Given the description of an element on the screen output the (x, y) to click on. 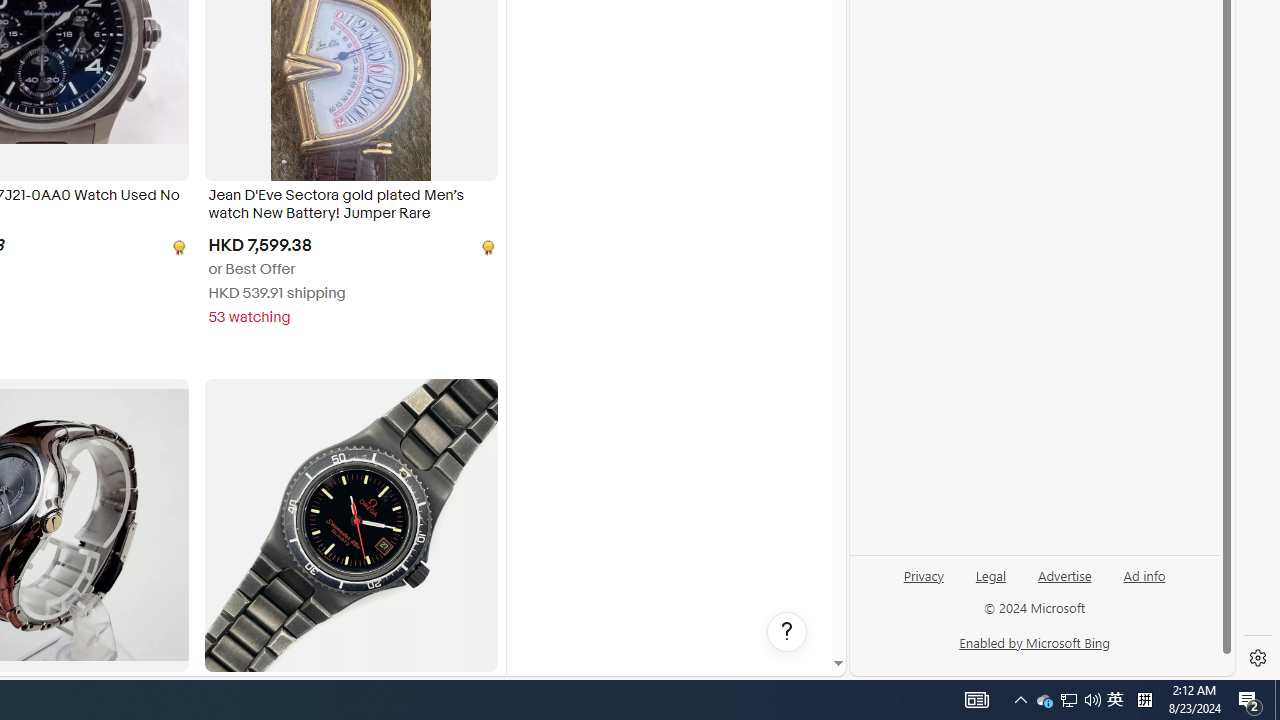
Help, opens dialogs (787, 632)
Advertise (1064, 583)
Ad info (1144, 583)
Legal (991, 574)
Privacy (923, 574)
Privacy (923, 583)
Legal (990, 583)
Advertise (1064, 574)
[object Undefined] (486, 246)
Ad info (1144, 574)
